Given the description of an element on the screen output the (x, y) to click on. 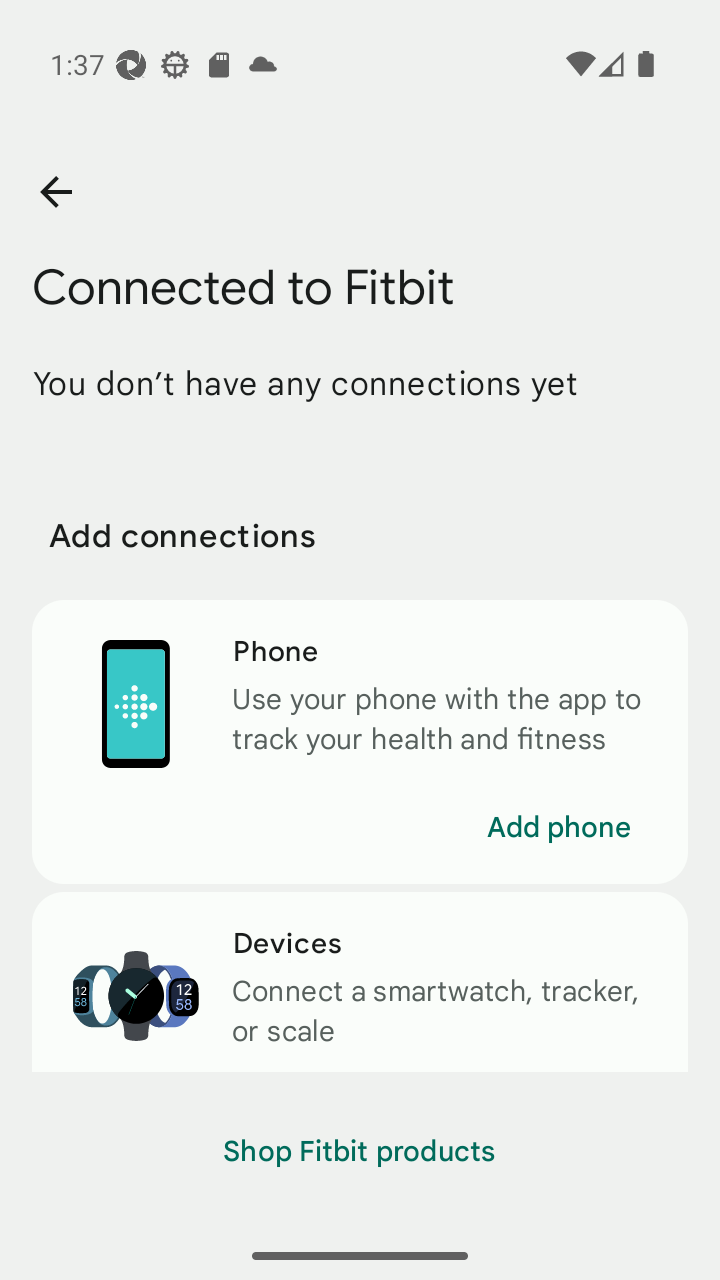
Go back (55, 191)
Add phone (558, 827)
Devices Connect a smartwatch, tracker, or scale (359, 982)
Shop Fitbit products (359, 1151)
